Given the description of an element on the screen output the (x, y) to click on. 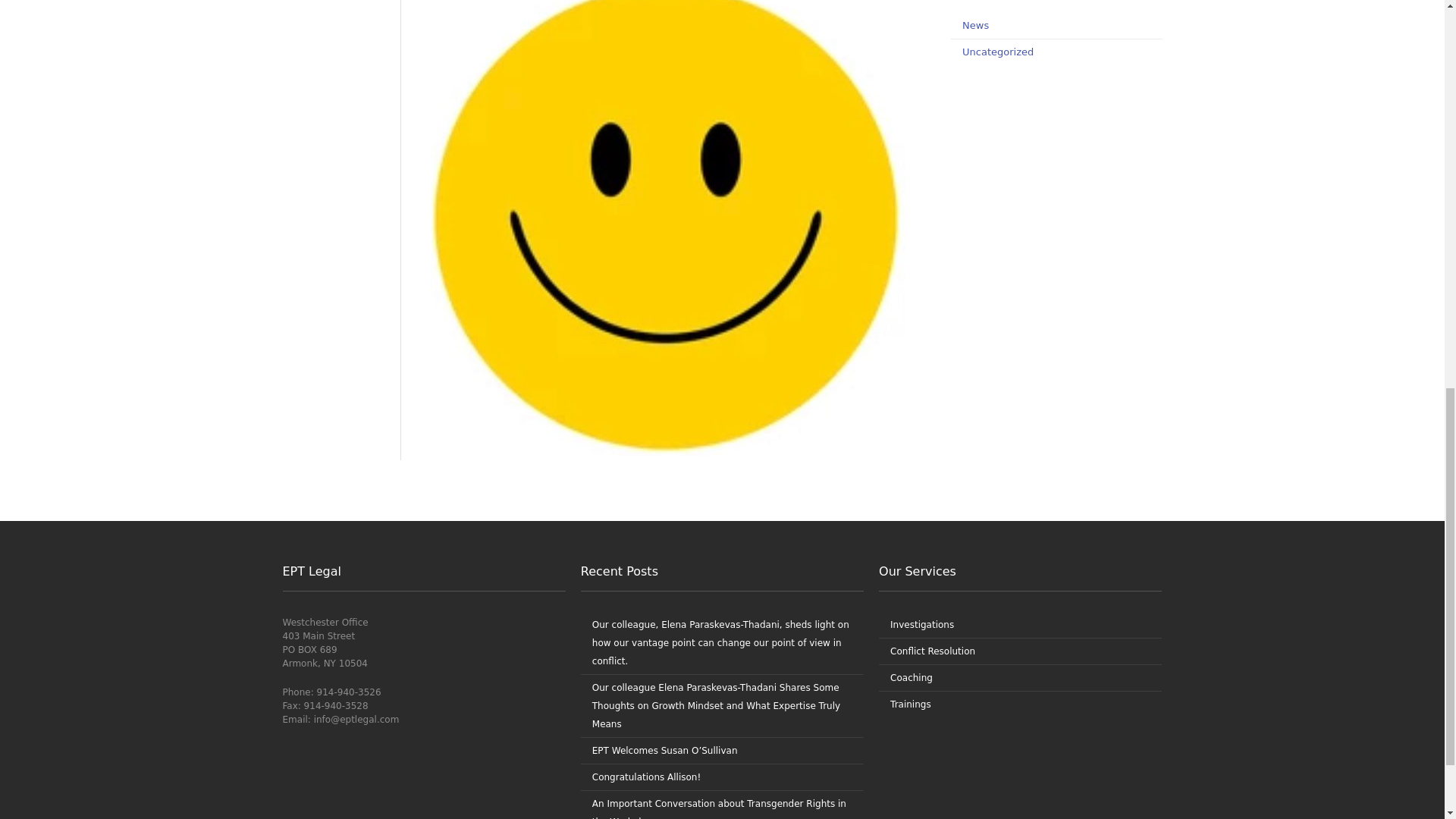
Coaching (911, 677)
Uncategorized (997, 51)
News (975, 25)
Investigations (921, 624)
Trainings (910, 704)
Conflict Resolution (932, 651)
Congratulations Allison! (646, 777)
Congratulations Allison! (646, 777)
